Given the description of an element on the screen output the (x, y) to click on. 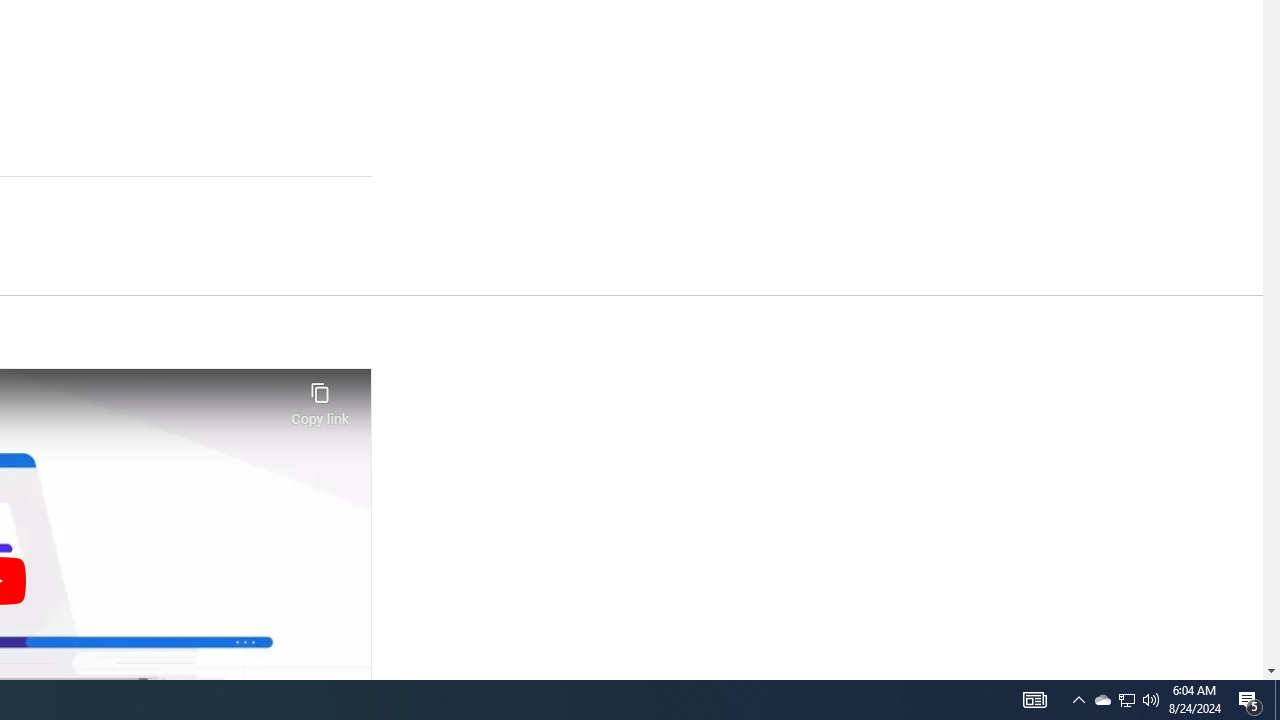
Copy link (319, 398)
